Given the description of an element on the screen output the (x, y) to click on. 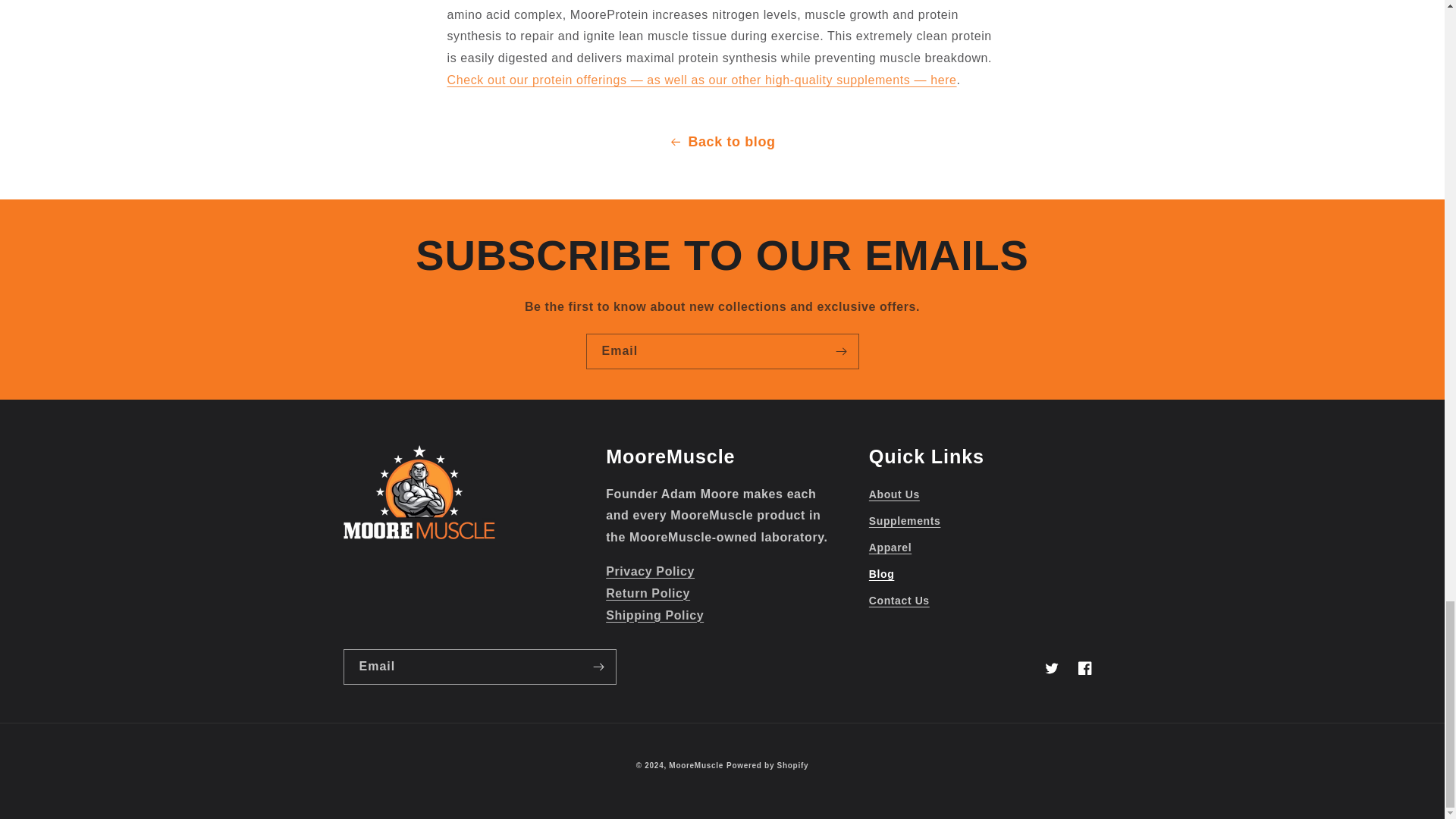
Supplements (904, 520)
Privacy Policy (649, 571)
Shipping Policy (654, 615)
Apparel (890, 547)
Twitter (1050, 667)
Facebook (1083, 667)
Contact Us (899, 601)
Return Policy (647, 593)
Shipping Policy (654, 615)
About Us (894, 496)
